Given the description of an element on the screen output the (x, y) to click on. 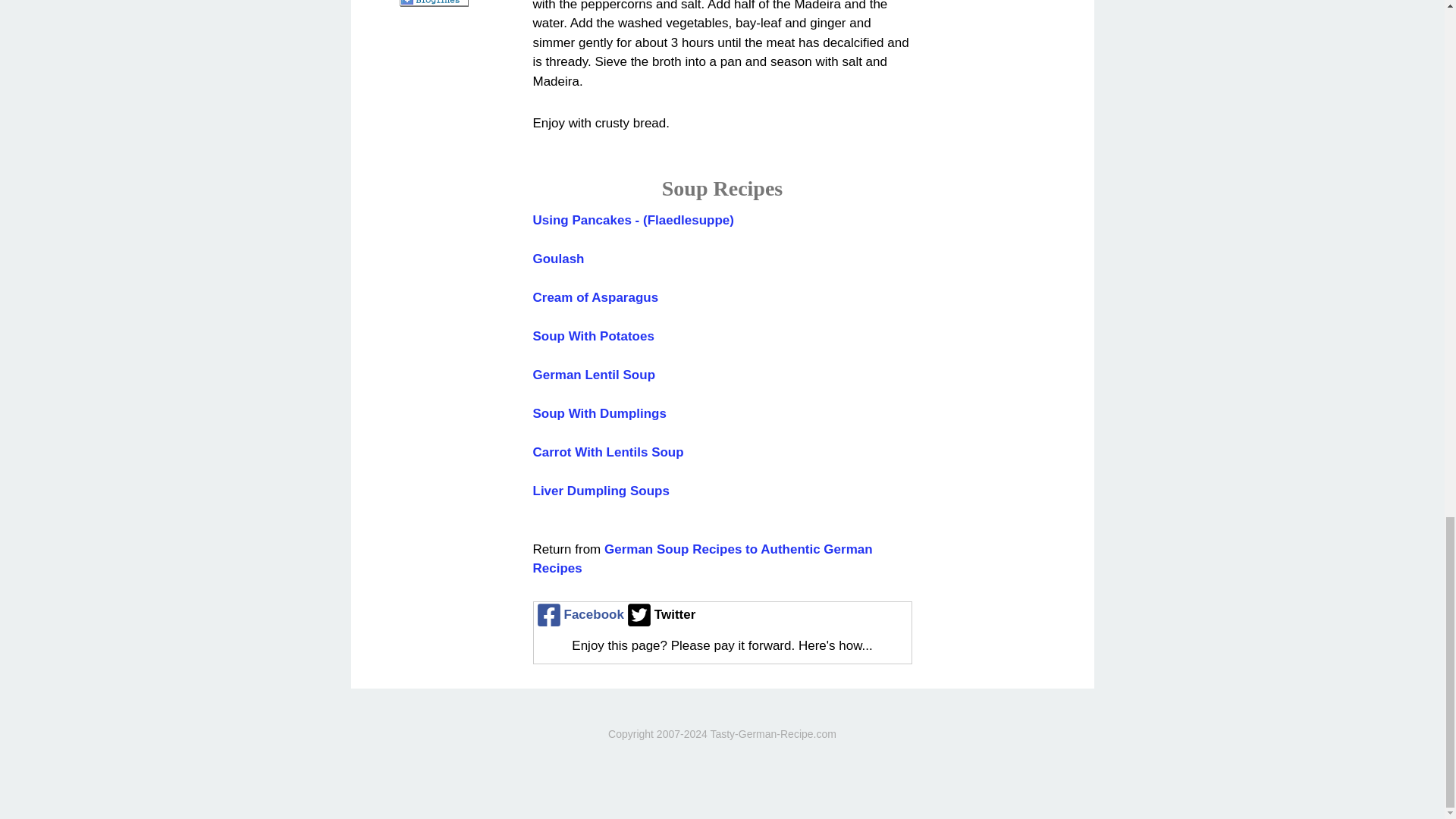
Twitter (659, 614)
Facebook (579, 614)
Liver Dumpling Soups (600, 490)
Carrot With Lentils Soup (607, 452)
Soup With Potatoes (592, 336)
German Lentil Soup (593, 374)
Goulash (557, 258)
Cream of Asparagus (595, 297)
German Soup Recipes to Authentic German Recipes (702, 559)
Soup With Dumplings (598, 413)
